Given the description of an element on the screen output the (x, y) to click on. 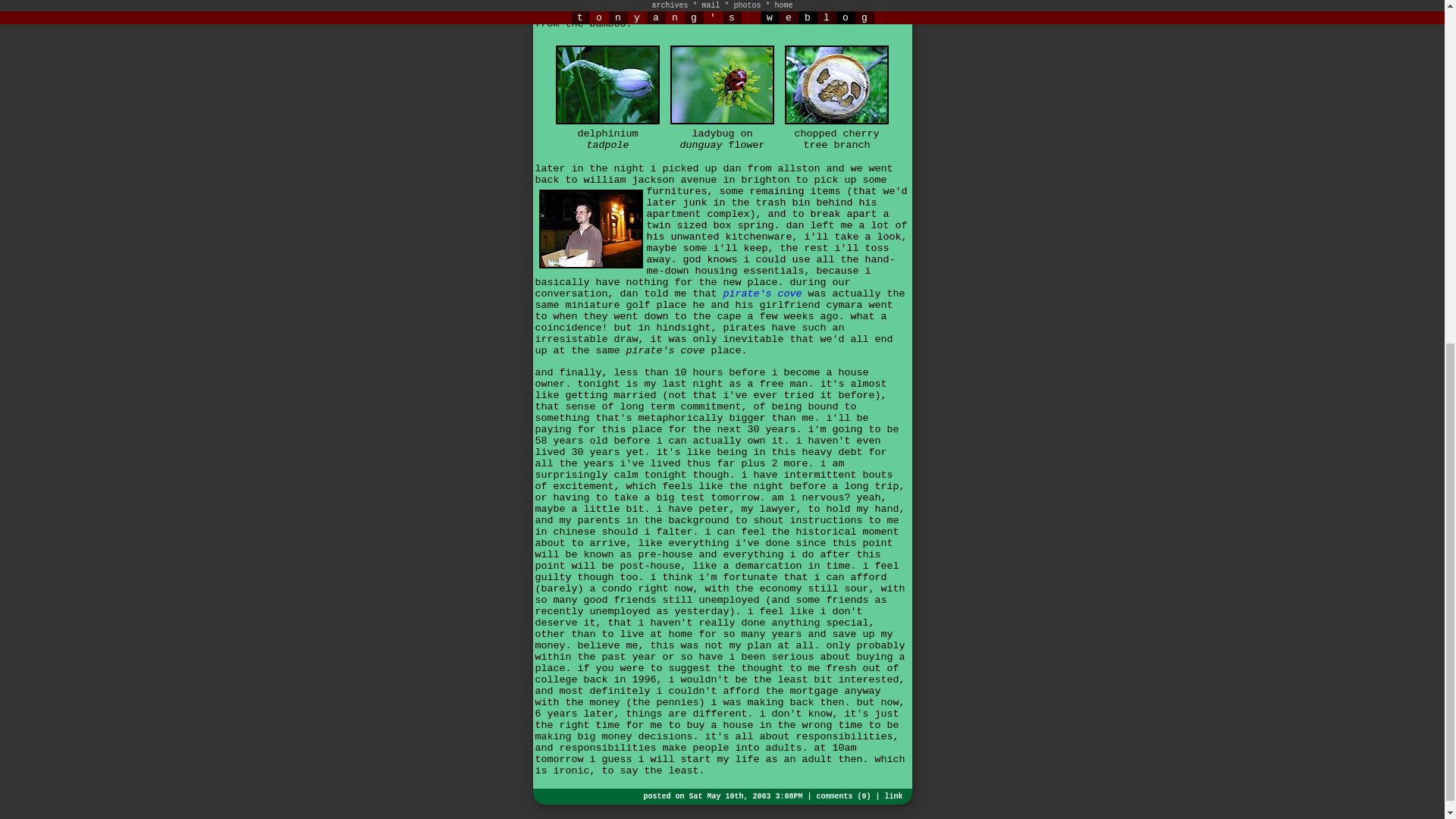
pirate's cove (762, 293)
link (892, 796)
